Given the description of an element on the screen output the (x, y) to click on. 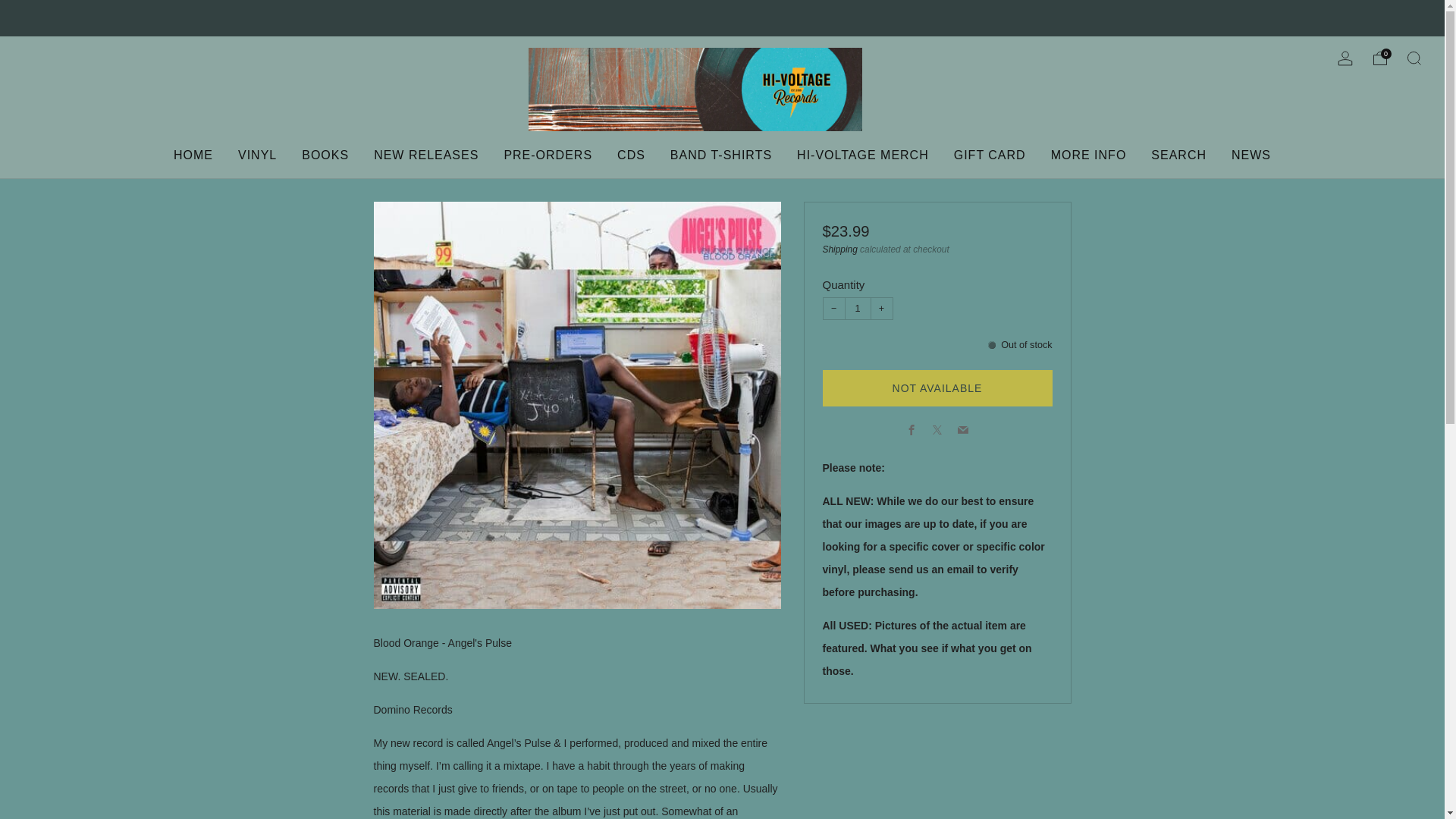
HOME (192, 154)
VINYL (257, 154)
1 (857, 308)
